Given the description of an element on the screen output the (x, y) to click on. 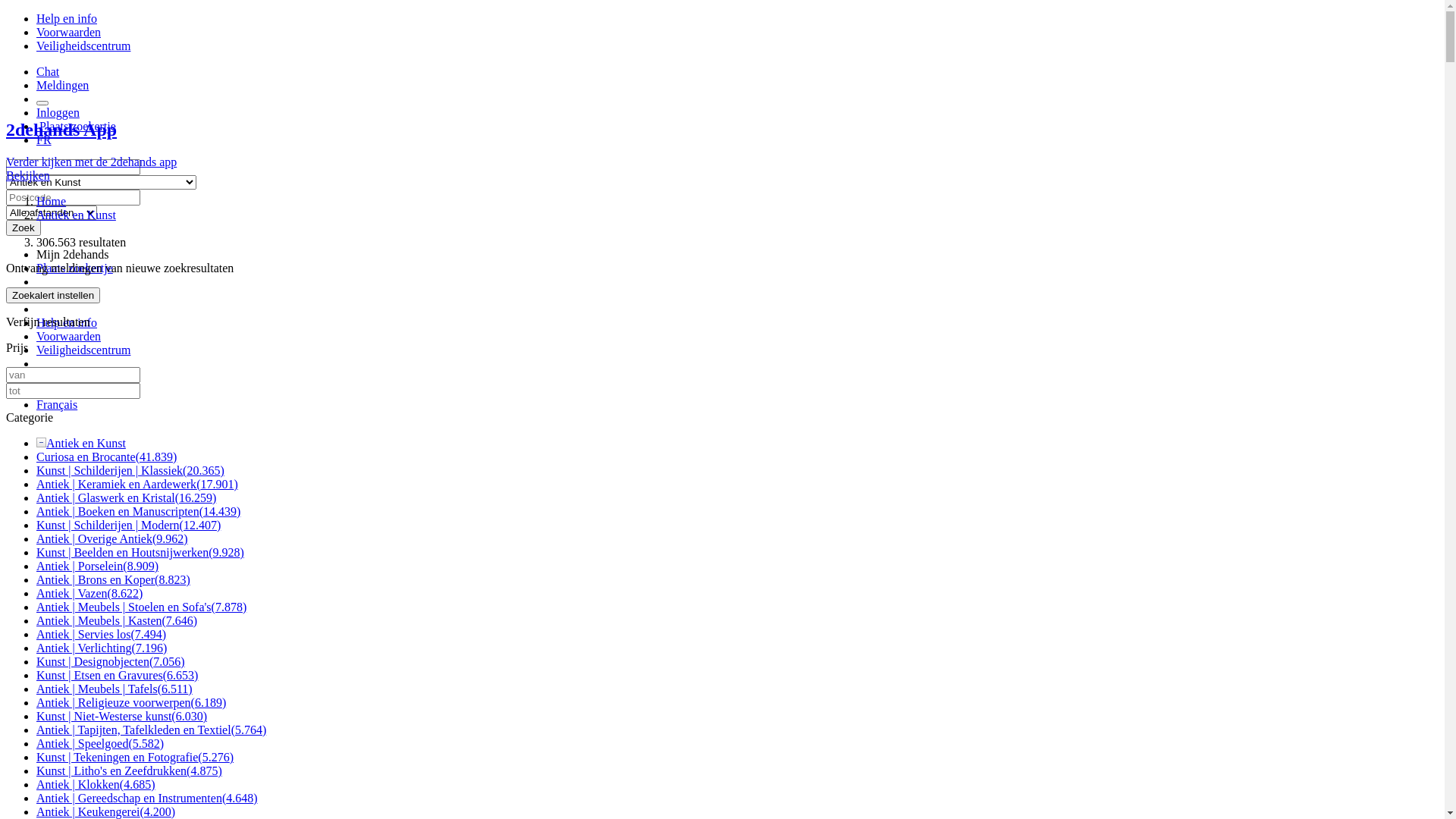
Kunst | Schilderijen | Klassiek(20.365) Element type: text (130, 470)
Antiek | Verlichting(7.196) Element type: text (101, 647)
FR Element type: text (43, 139)
Antiek | Overige Antiek(9.962) Element type: text (112, 538)
Voorwaarden Element type: text (68, 335)
Kunst | Litho's en Zeefdrukken(4.875) Element type: text (129, 770)
Antiek | Boeken en Manuscripten(14.439) Element type: text (138, 511)
Zoek Element type: text (23, 227)
Meldingen Element type: text (737, 85)
Kunst | Tekeningen en Fotografie(5.276) Element type: text (134, 756)
Inloggen Element type: text (57, 376)
Antiek | Tapijten, Tafelkleden en Textiel(5.764) Element type: text (151, 729)
Antiek | Glaswerk en Kristal(16.259) Element type: text (126, 497)
Antiek | Keramiek en Aardewerk(17.901) Element type: text (137, 483)
Kunst | Designobjecten(7.056) Element type: text (110, 661)
Kunst | Niet-Westerse kunst(6.030) Element type: text (121, 715)
Help en info Element type: text (66, 322)
Veiligheidscentrum Element type: text (83, 349)
Antiek | Meubels | Stoelen en Sofa's(7.878) Element type: text (141, 606)
Plaats zoekertje Element type: text (74, 267)
Kunst | Beelden en Houtsnijwerken(9.928) Element type: text (140, 552)
Chat Element type: text (47, 294)
Antiek | Speelgoed(5.582) Element type: text (99, 743)
Antiek | Vazen(8.622) Element type: text (89, 592)
Antiek | Servies los(7.494) Element type: text (101, 633)
Antiek en Kunst Element type: text (85, 442)
Kunst | Schilderijen | Modern(12.407) Element type: text (128, 524)
Chat Element type: text (737, 71)
Inloggen Element type: text (57, 112)
Voorwaarden Element type: text (68, 31)
2dehands App
Verder kijken met de 2dehands app
Bekijken Element type: text (722, 150)
Antiek | Klokken(4.685) Element type: text (95, 784)
Antiek en Kunst Element type: text (76, 214)
Kunst | Etsen en Gravures(6.653) Element type: text (116, 674)
Veiligheidscentrum Element type: text (83, 45)
Antiek | Meubels | Kasten(7.646) Element type: text (116, 620)
Antiek | Porselein(8.909) Element type: text (97, 565)
 Plaats zoekertje Element type: text (76, 125)
Antiek | Gereedschap en Instrumenten(4.648) Element type: text (146, 797)
Antiek | Keukengerei(4.200) Element type: text (105, 811)
Antiek | Brons en Koper(8.823) Element type: text (113, 579)
Antiek | Meubels | Tafels(6.511) Element type: text (114, 688)
Zoekalert instellen Element type: text (53, 295)
Help en info Element type: text (66, 18)
Home Element type: text (50, 200)
Curiosa en Brocante(41.839) Element type: text (106, 456)
Antiek | Religieuze voorwerpen(6.189) Element type: text (130, 702)
